Given the description of an element on the screen output the (x, y) to click on. 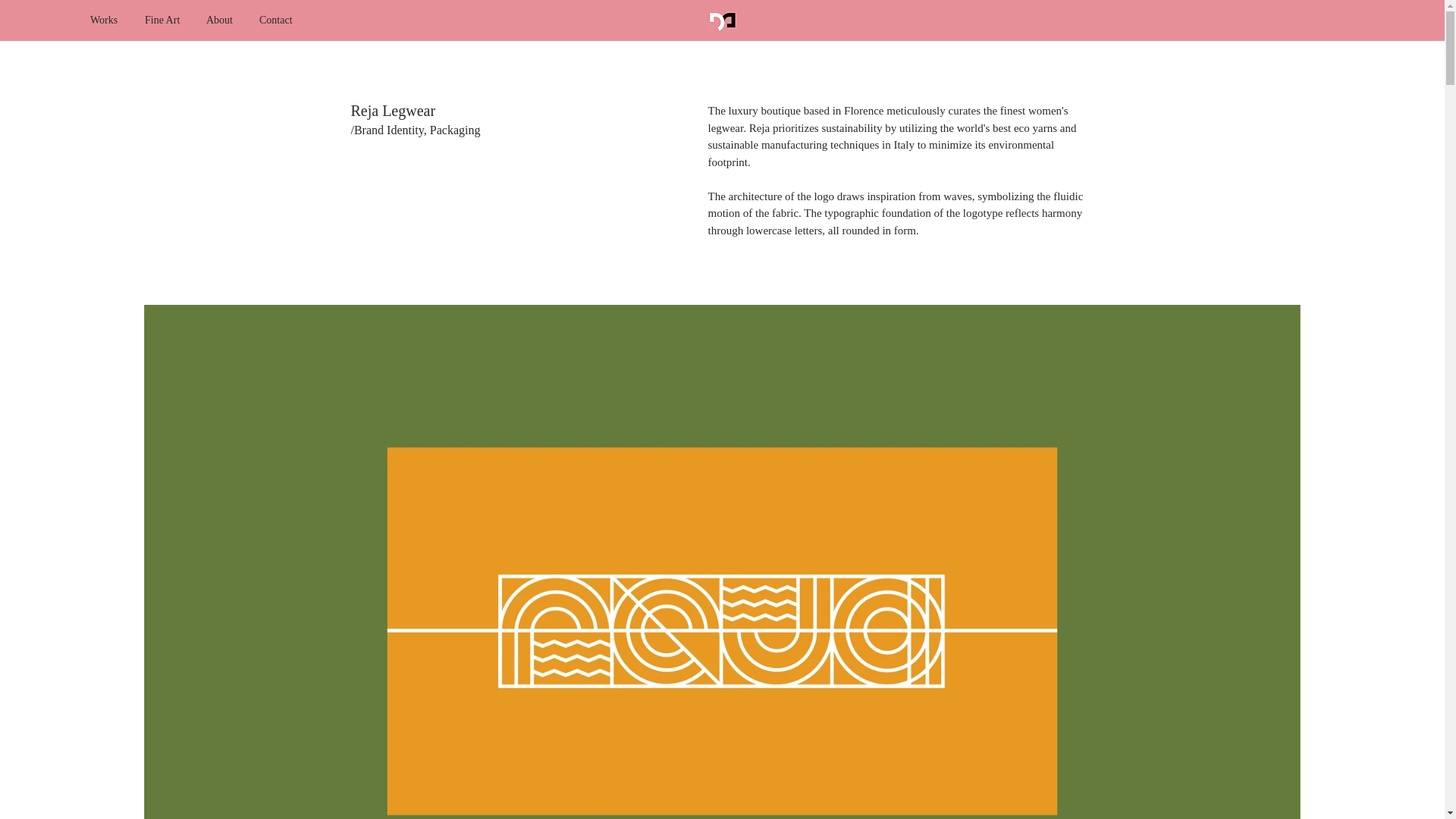
About (221, 20)
Fine Art (164, 20)
Contact (279, 20)
Works (105, 20)
